Given the description of an element on the screen output the (x, y) to click on. 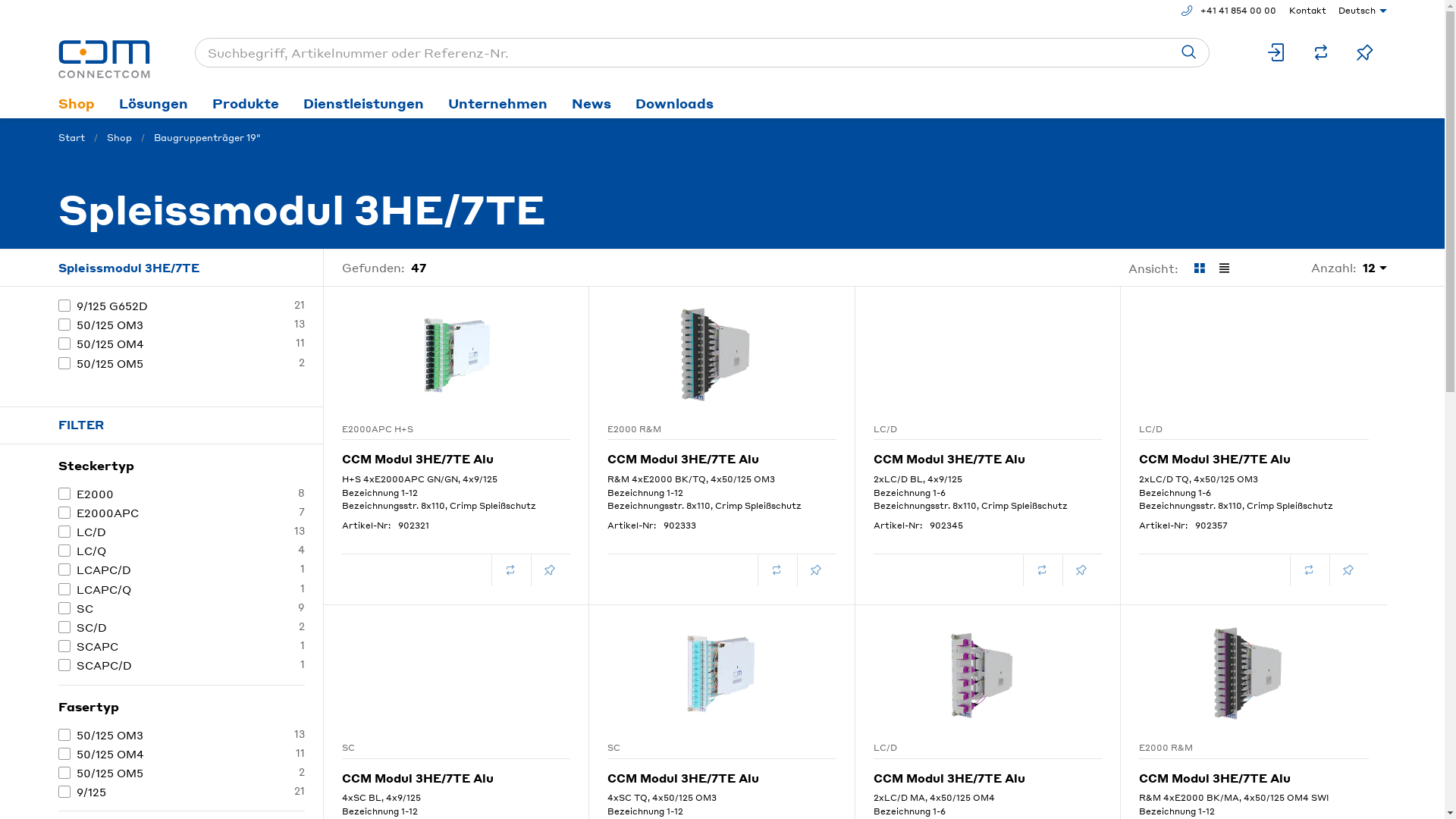
CCM Modul 3HE/7TE Alu Element type: text (721, 772)
CCM Modul 3HE/7TE Alu Element type: text (455, 772)
Kachelansicht Element type: hover (1198, 268)
E2000 R&M Element type: text (1233, 747)
Shop Element type: text (118, 137)
Connect Com AG - die Glasfaserspezialisten Element type: hover (103, 59)
Shop Element type: text (75, 102)
LC/D Element type: text (1233, 429)
Anmelden Element type: hover (1276, 52)
CCM Modul 3HE/7TE Alu Element type: text (987, 772)
CCM Modul 3HE/7TE Alu Element type: text (721, 453)
CCM Modul 3HE/7TE Alu Element type: text (1253, 772)
LC/D Element type: text (968, 747)
SC Element type: text (702, 747)
Kontakt Element type: text (1304, 10)
News Element type: text (591, 102)
LC/D Element type: text (968, 429)
Produktvergleich Element type: hover (1320, 52)
E2000APC H+S Element type: text (435, 429)
CCM Modul 3HE/7TE Alu Element type: text (987, 453)
Start Element type: text (70, 137)
Downloads Element type: text (674, 102)
SC Element type: text (435, 747)
CCM Modul 3HE/7TE Alu Element type: text (455, 453)
+41 41 854 00 00 Element type: text (1228, 10)
Merkliste Element type: hover (1364, 52)
Listenansicht Element type: hover (1224, 268)
CCM Modul 3HE/7TE Alu Element type: text (1253, 453)
E2000 R&M Element type: text (702, 429)
